Given the description of an element on the screen output the (x, y) to click on. 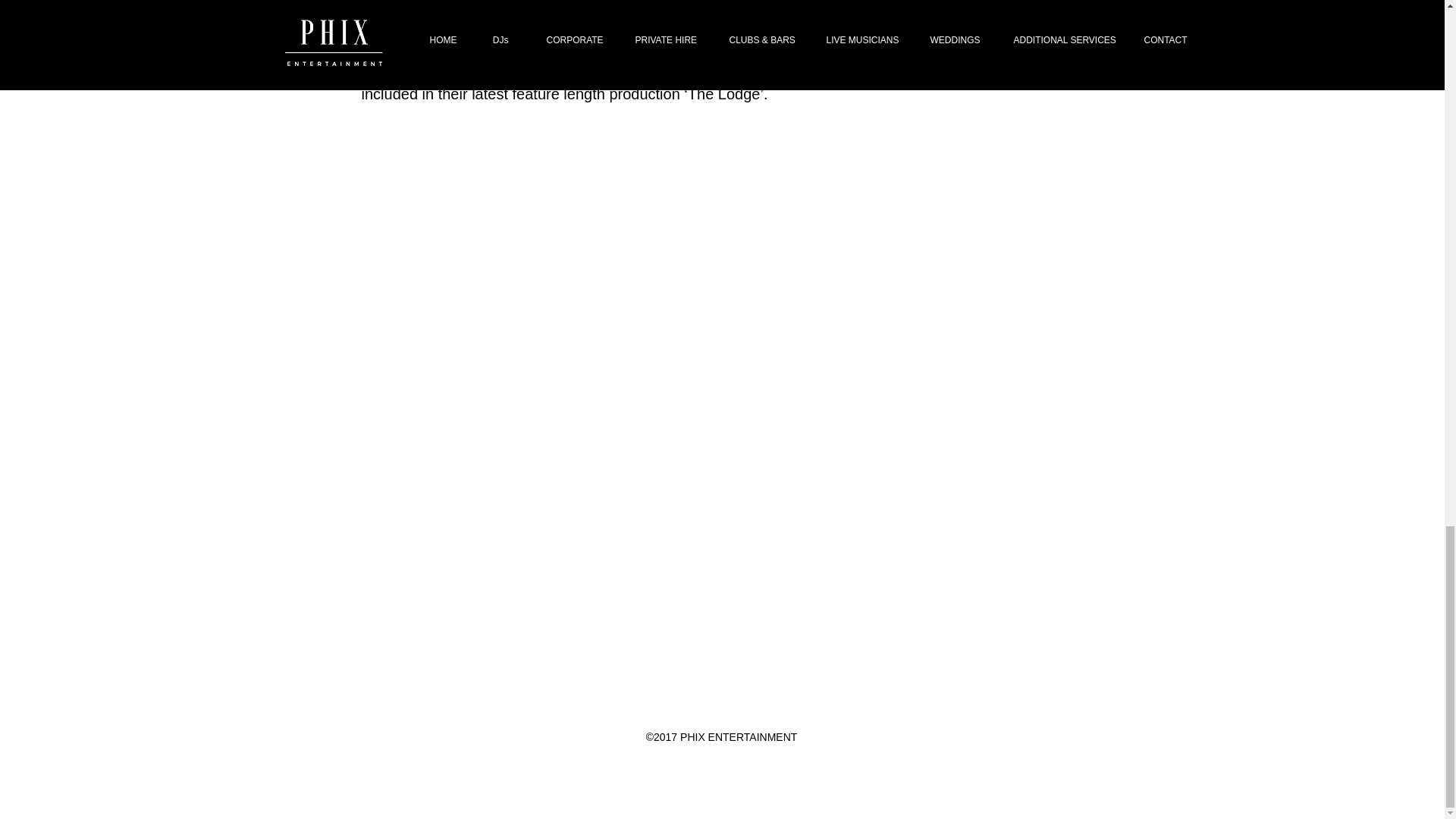
External YouTube (907, 264)
External YouTube (540, 264)
External YouTube (907, 486)
External YouTube (540, 486)
